Given the description of an element on the screen output the (x, y) to click on. 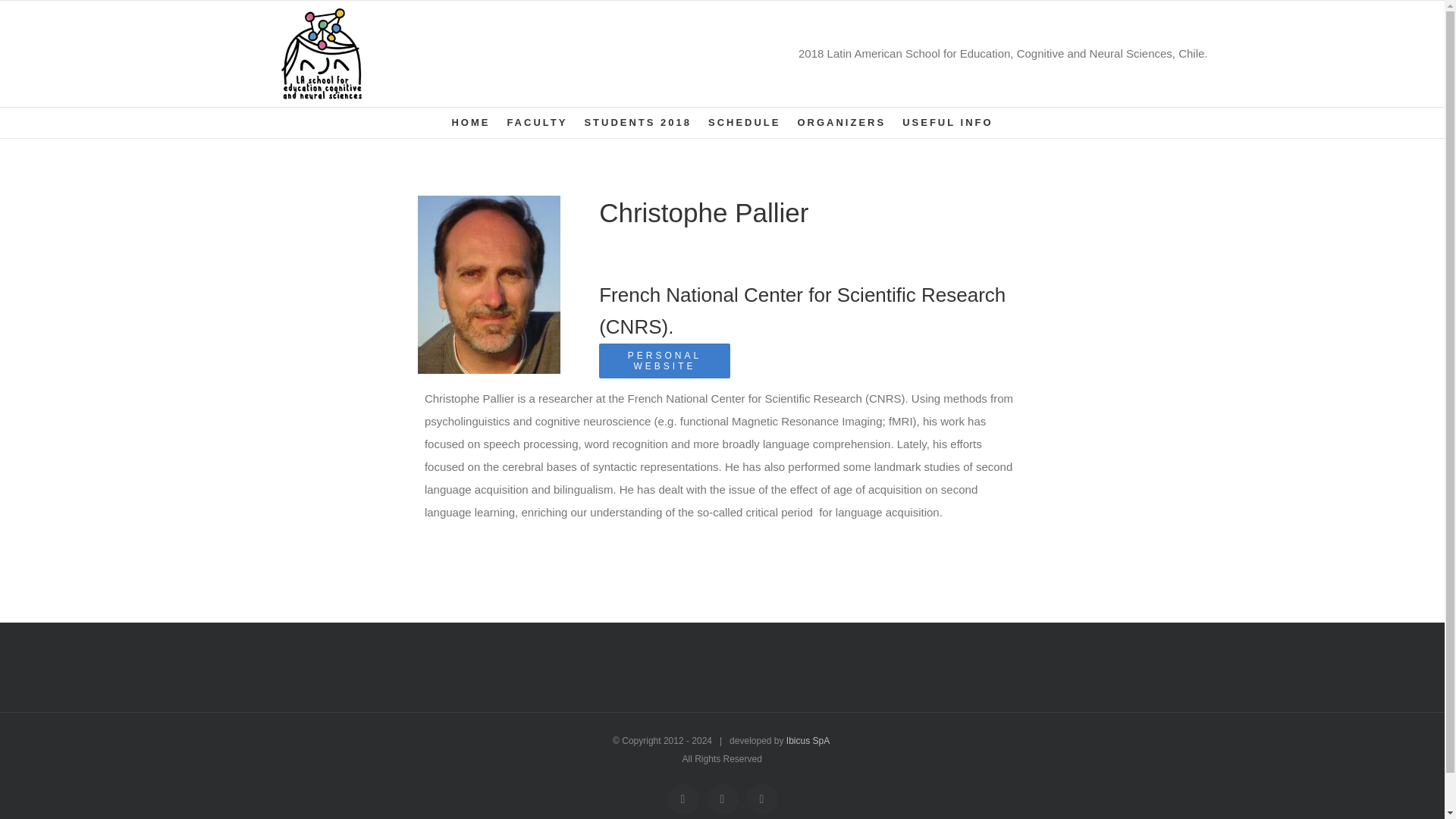
SCHEDULE (743, 122)
Facebook (682, 798)
STUDENTS 2018 (637, 122)
Facebook (682, 798)
Twitter (722, 798)
Twitter (722, 798)
PERSONAL WEBSITE (664, 360)
ORGANIZERS (840, 122)
FACULTY (536, 122)
Instagram (761, 798)
